Given the description of an element on the screen output the (x, y) to click on. 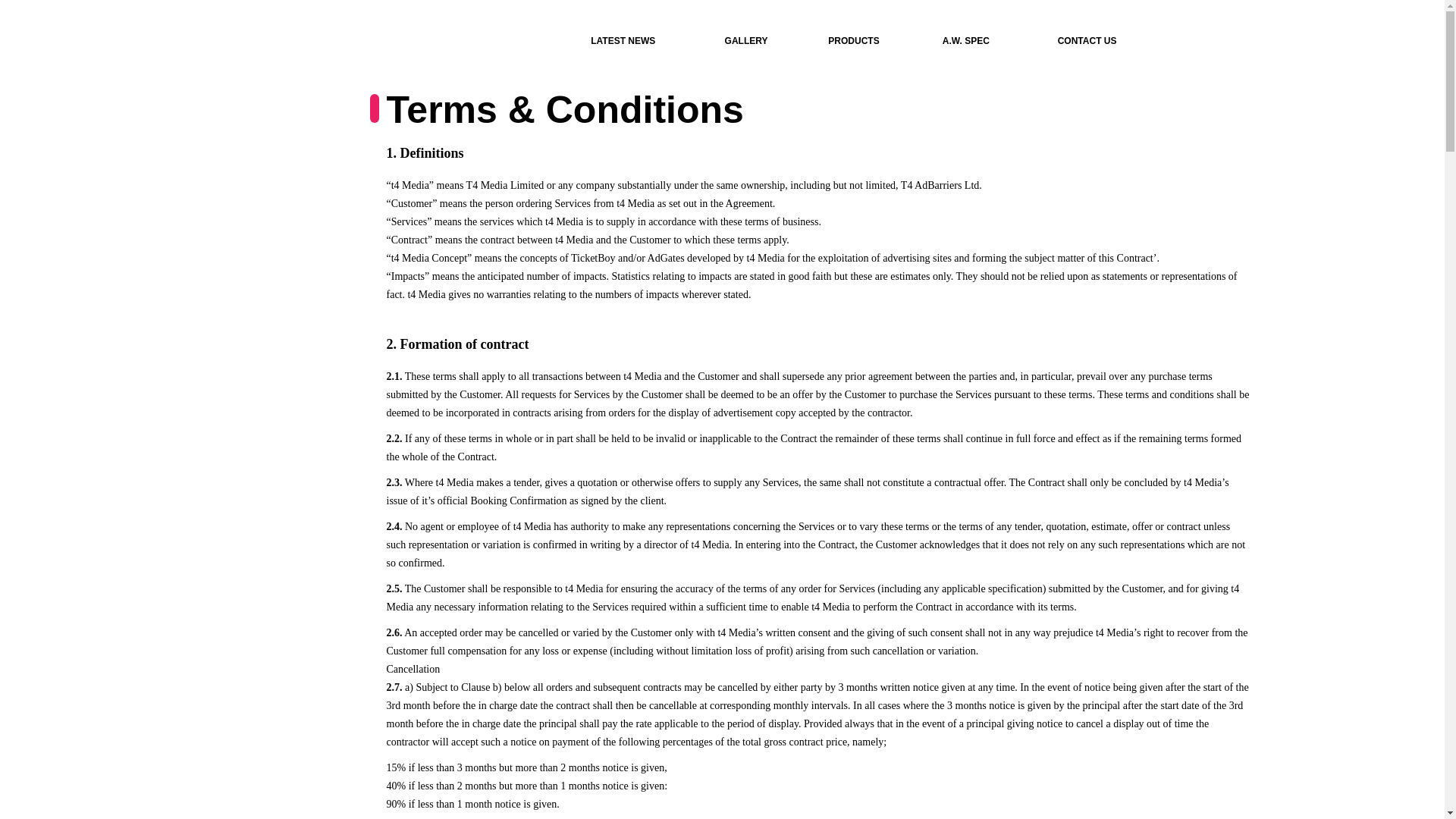
A.W. SPEC (966, 40)
PRODUCTS (853, 40)
LATEST NEWS (622, 40)
CONTACT US (1087, 40)
GALLERY (745, 40)
